Given the description of an element on the screen output the (x, y) to click on. 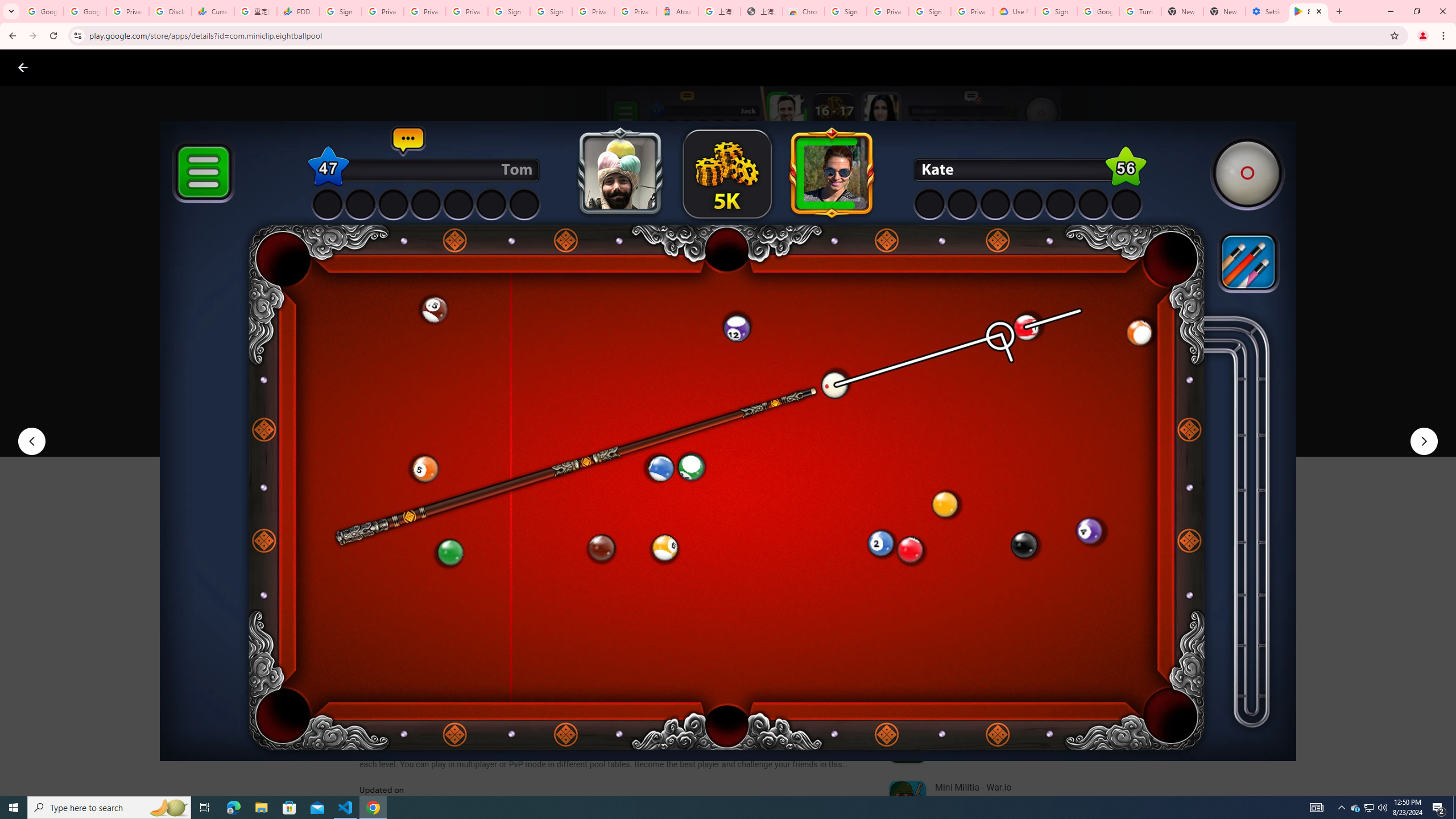
Google Account Help (1097, 11)
8 Ball Pool - Apps on Google Play (1308, 11)
Sign in - Google Accounts (340, 11)
Close screenshot viewer (22, 67)
Currencies - Google Finance (212, 11)
Miniclip.com (386, 333)
Open account menu (1436, 67)
